Given the description of an element on the screen output the (x, y) to click on. 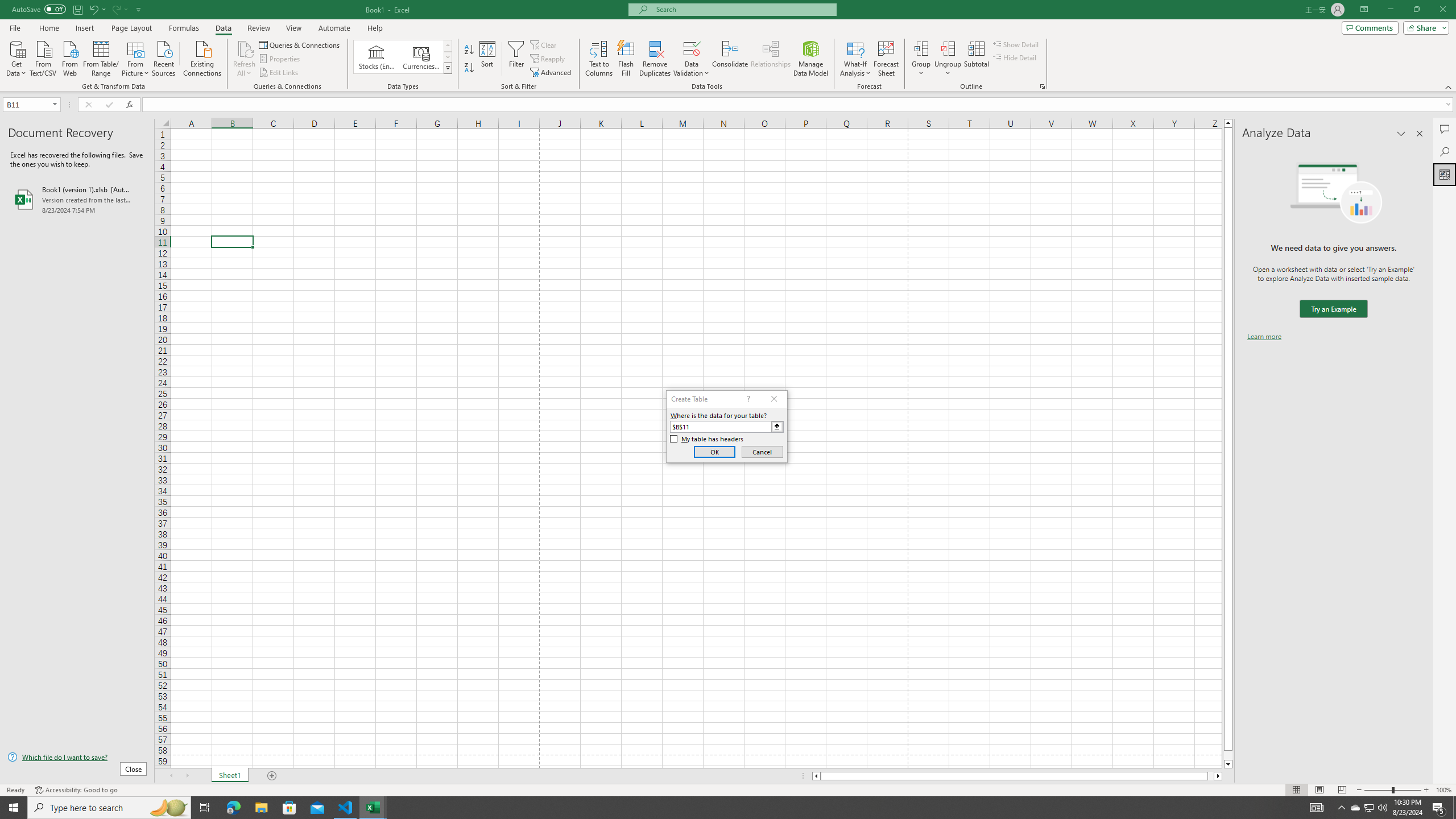
Currencies (English) (420, 56)
Consolidate... (729, 58)
Group and Outline Settings (1042, 85)
Properties (280, 58)
Remove Duplicates (654, 58)
